Given the description of an element on the screen output the (x, y) to click on. 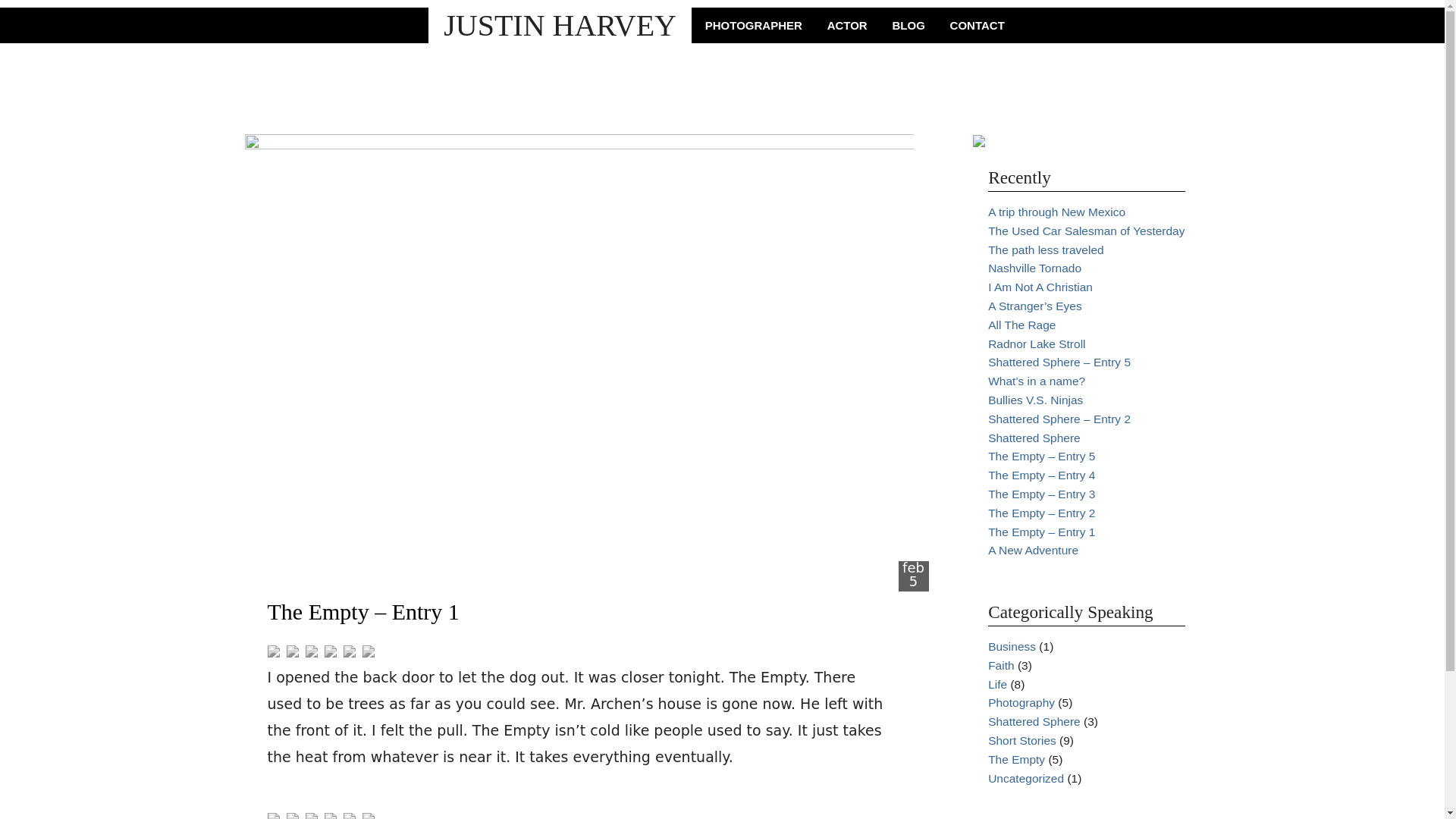
Bullies V.S. Ninjas (1035, 399)
ACTOR (847, 25)
BLOG (908, 25)
Share on Twitter (293, 816)
Share on Twitter (292, 651)
I Am Not A Christian (1040, 286)
All The Rage (1021, 324)
Share on Twitter (293, 652)
Share by email (369, 652)
PHOTOGRAPHER (753, 25)
A trip through New Mexico (1056, 211)
Nashville Tornado (1034, 267)
The Used Car Salesman of Yesterday (1086, 230)
Share on Linkedin (348, 651)
Share on Facebook (272, 816)
